Given the description of an element on the screen output the (x, y) to click on. 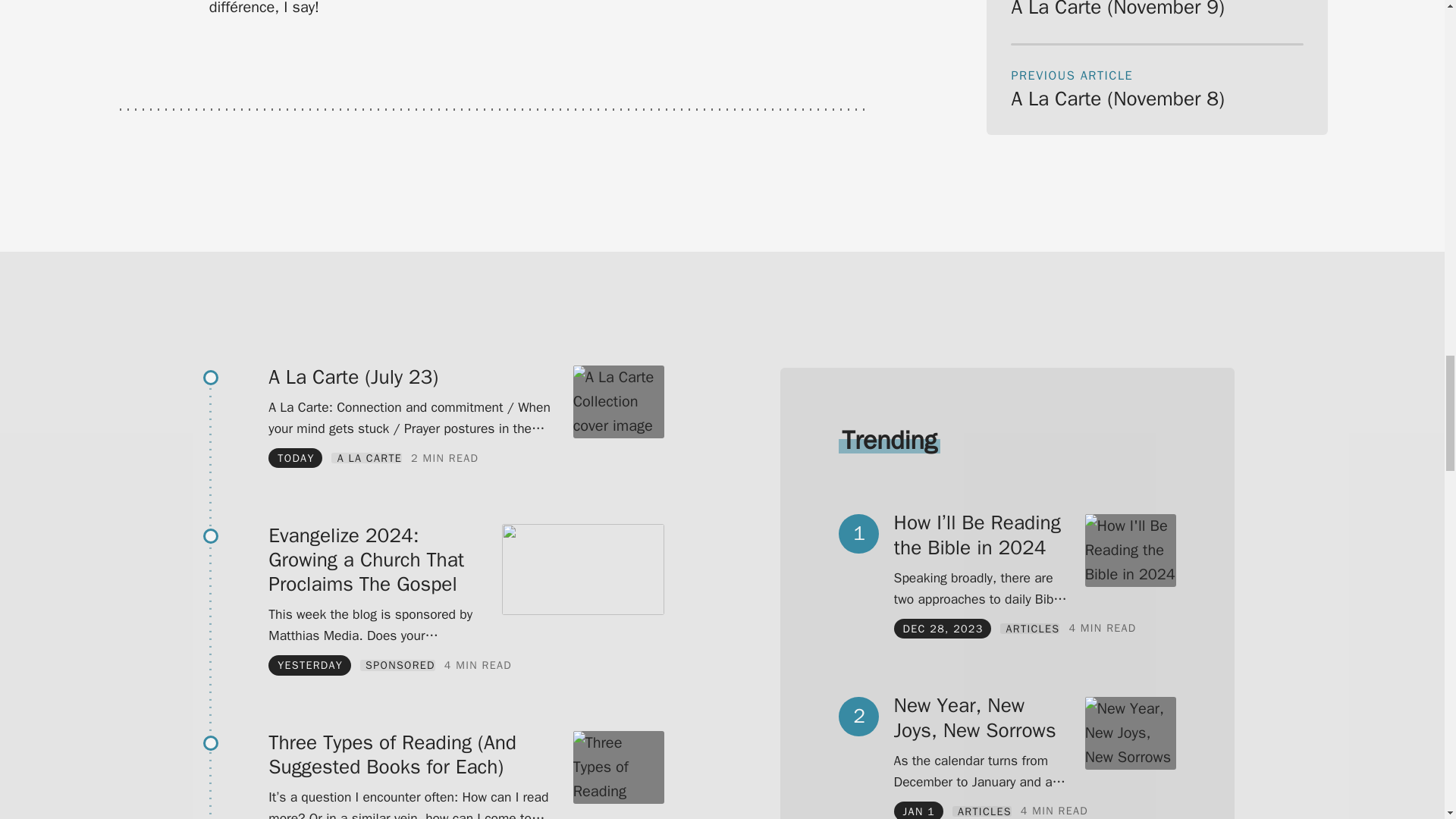
261 words (444, 458)
Jul 23, 2024 at 12:01 am (296, 458)
Jul 22, 2024 at 12:01 pm (310, 664)
599 words (478, 665)
